Given the description of an element on the screen output the (x, y) to click on. 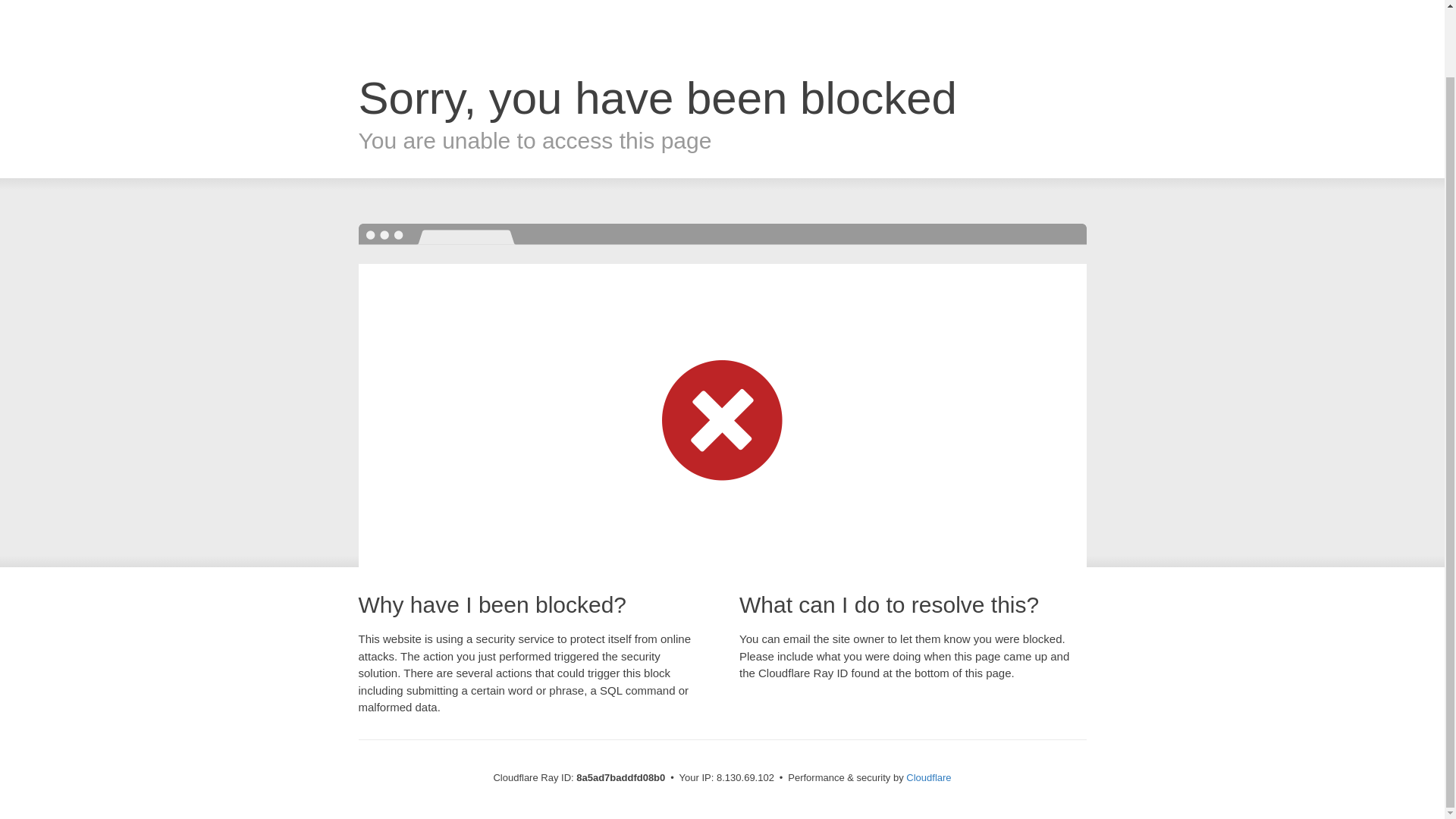
Cloudflare (927, 777)
